Given the description of an element on the screen output the (x, y) to click on. 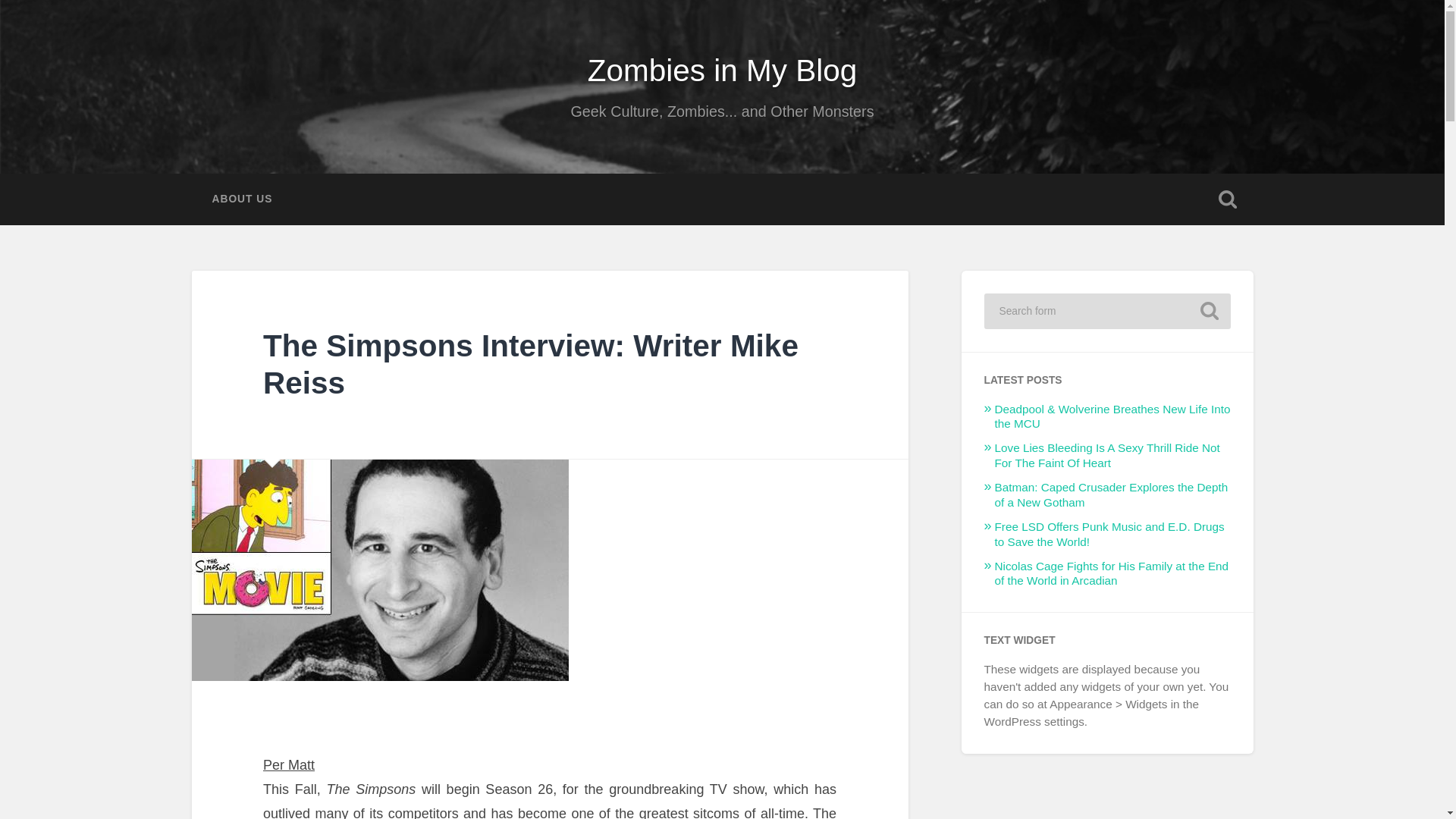
Search (1209, 310)
Search (1209, 310)
ABOUT US (241, 199)
Zombies in My Blog (722, 70)
The Simpsons Interview: Writer Mike Reiss (530, 364)
